Given the description of an element on the screen output the (x, y) to click on. 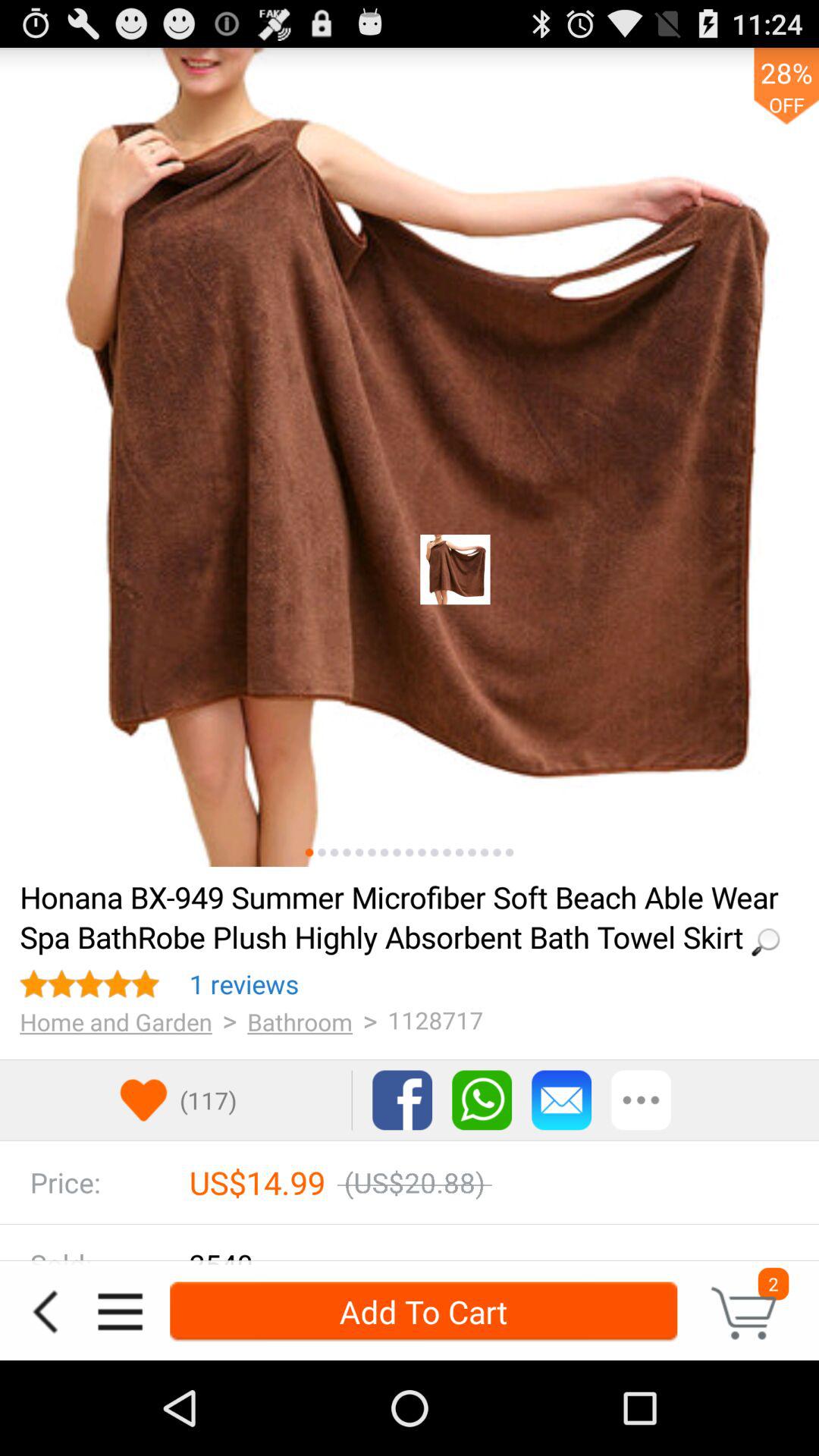
see other image (484, 852)
